Given the description of an element on the screen output the (x, y) to click on. 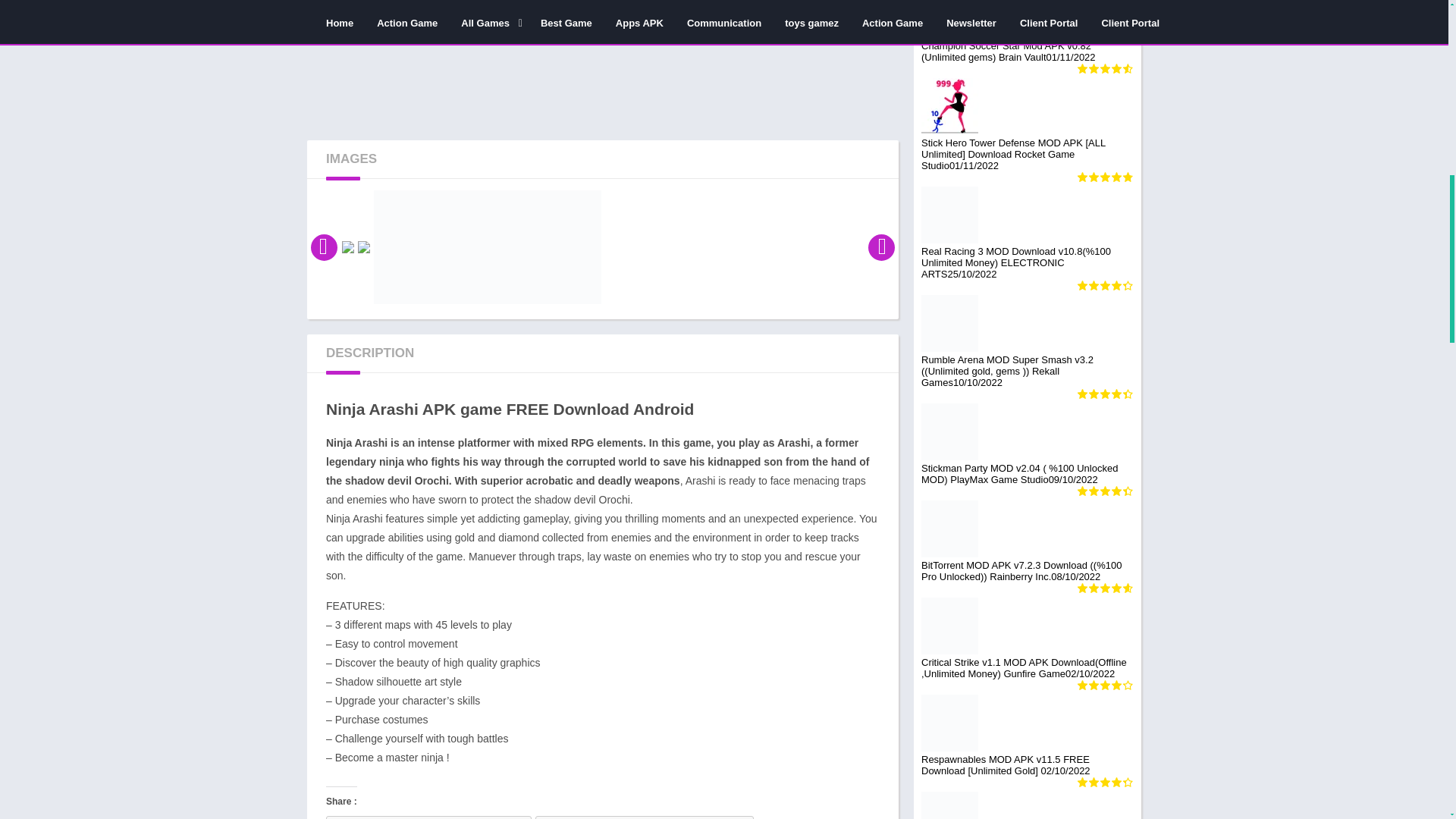
Advertisement (602, 54)
Click to share on Facebook (644, 817)
Click to share on Twitter (428, 817)
